Given the description of an element on the screen output the (x, y) to click on. 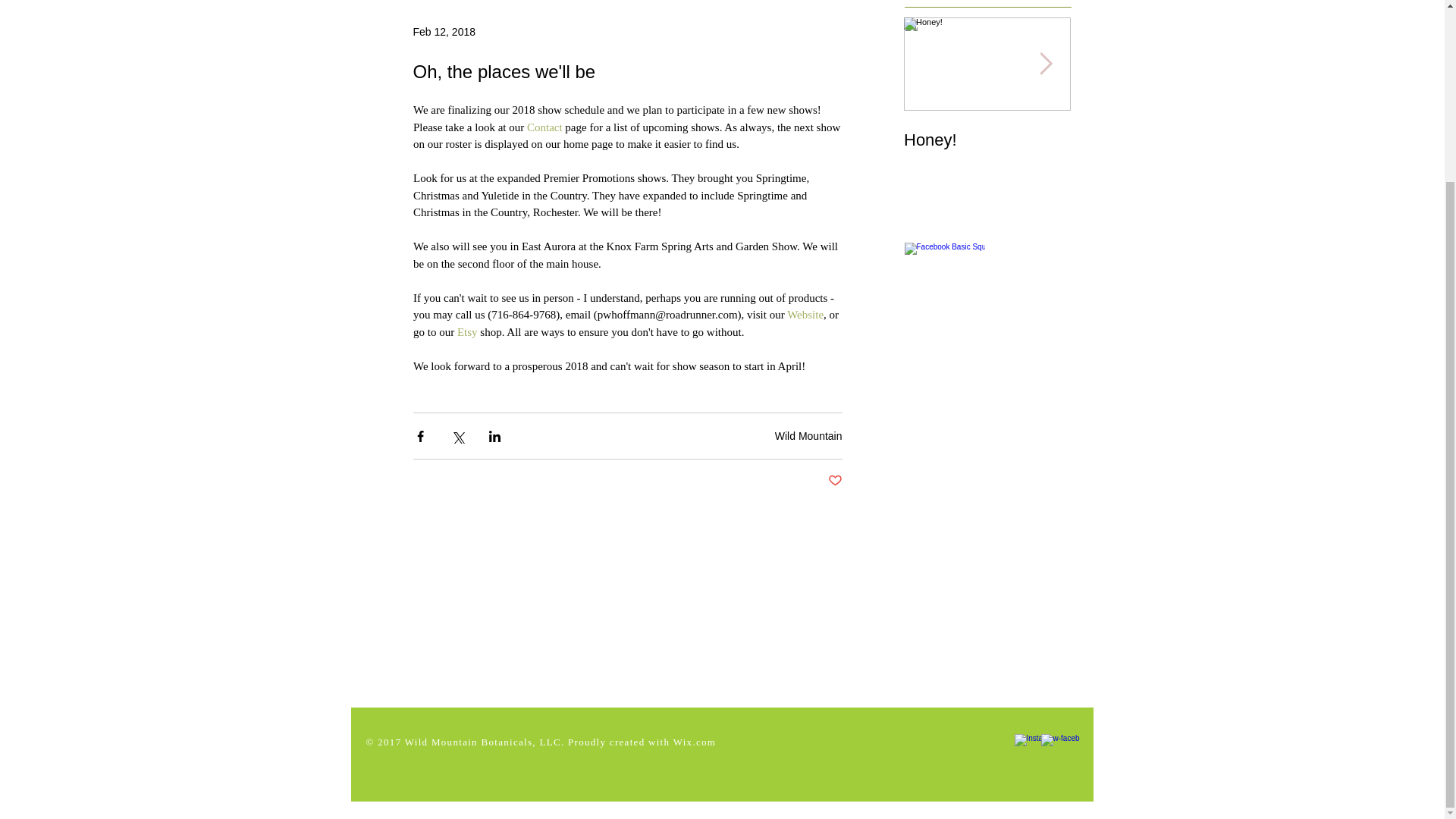
Etsy  (468, 331)
Contact  (544, 127)
Wix.com (694, 741)
Wild Mountain (987, 124)
Post not marked as liked (987, 124)
Honey! (808, 435)
Summertime, and the bugs are out (835, 480)
Feb 12, 2018 (987, 139)
Website (1153, 149)
